Given the description of an element on the screen output the (x, y) to click on. 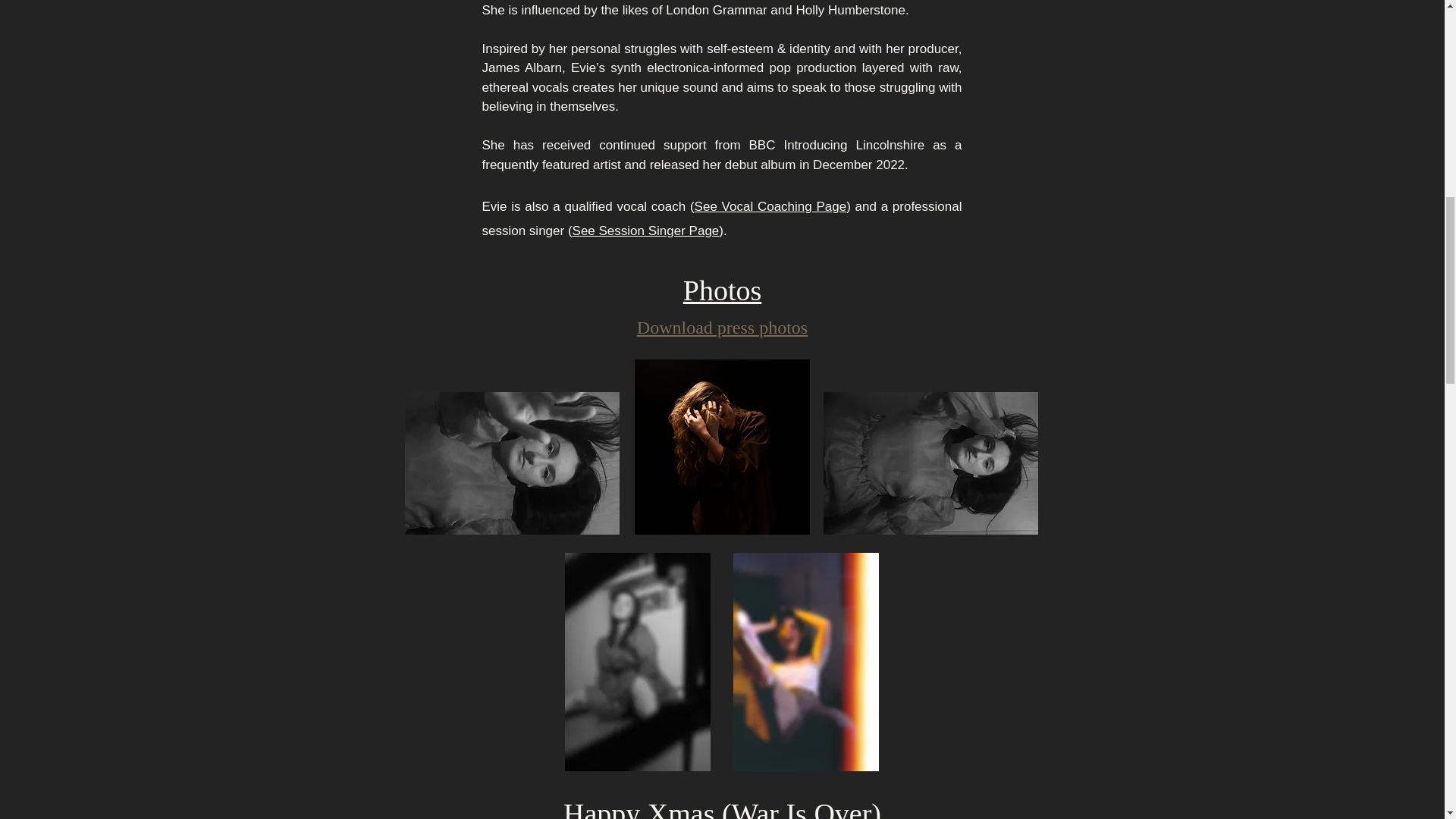
See Vocal Coaching Page (770, 206)
See Session Singer Page (645, 230)
Download press photos (722, 327)
